Given the description of an element on the screen output the (x, y) to click on. 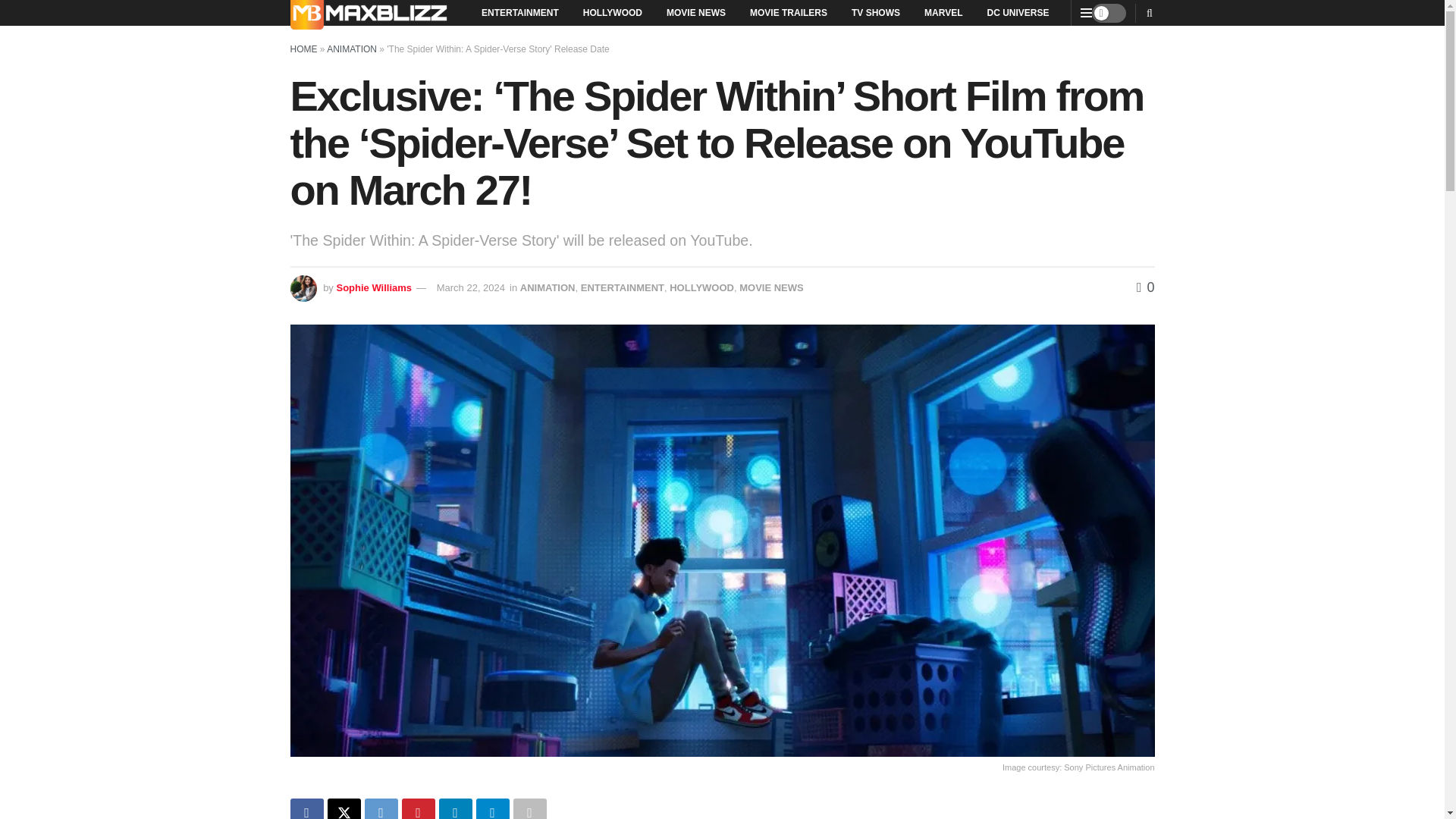
TV SHOWS (876, 12)
MOVIE NEWS (771, 287)
ENTERTAINMENT (519, 12)
HOME (303, 49)
ANIMATION (351, 49)
ENTERTAINMENT (621, 287)
0 (1145, 287)
ANIMATION (547, 287)
MOVIE NEWS (695, 12)
March 22, 2024 (470, 287)
MARVEL (943, 12)
HOLLYWOOD (701, 287)
DC UNIVERSE (1017, 12)
HOLLYWOOD (611, 12)
